Given the description of an element on the screen output the (x, y) to click on. 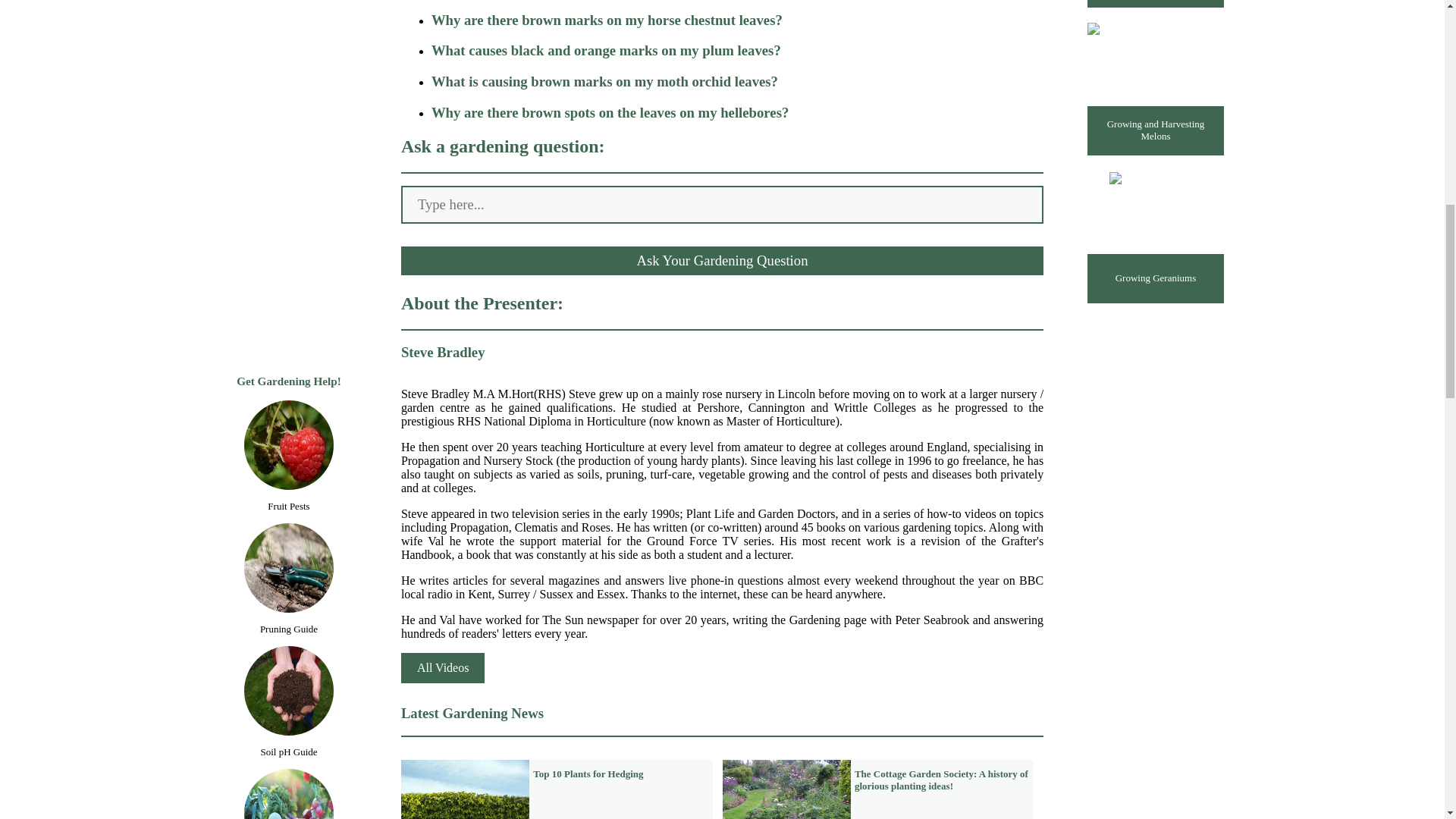
Advertisement (288, 175)
